Given the description of an element on the screen output the (x, y) to click on. 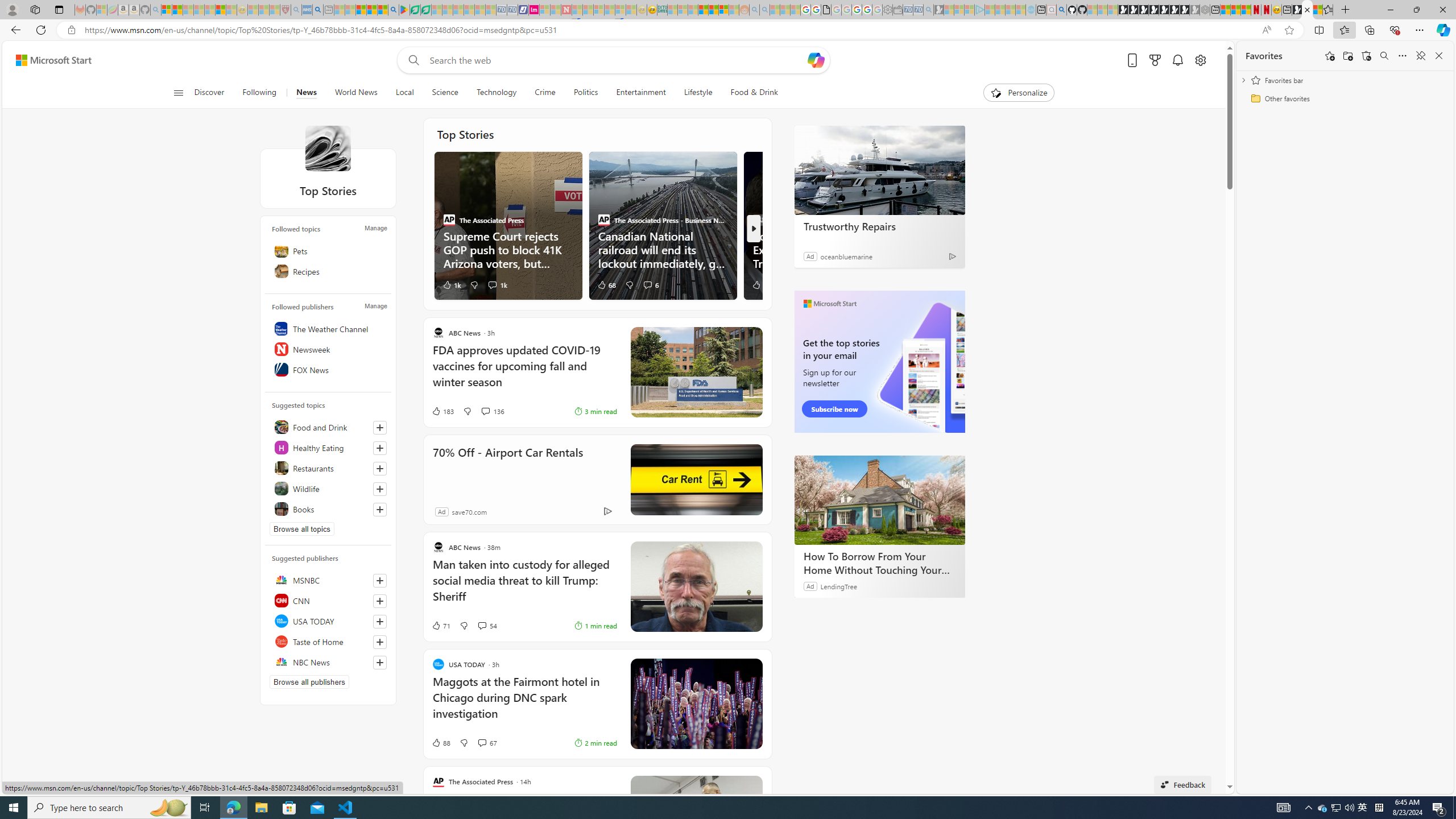
Terms of Use Agreement (414, 9)
View comments 1k Comment (497, 284)
Bluey: Let's Play! - Apps on Google Play (404, 9)
